Given the description of an element on the screen output the (x, y) to click on. 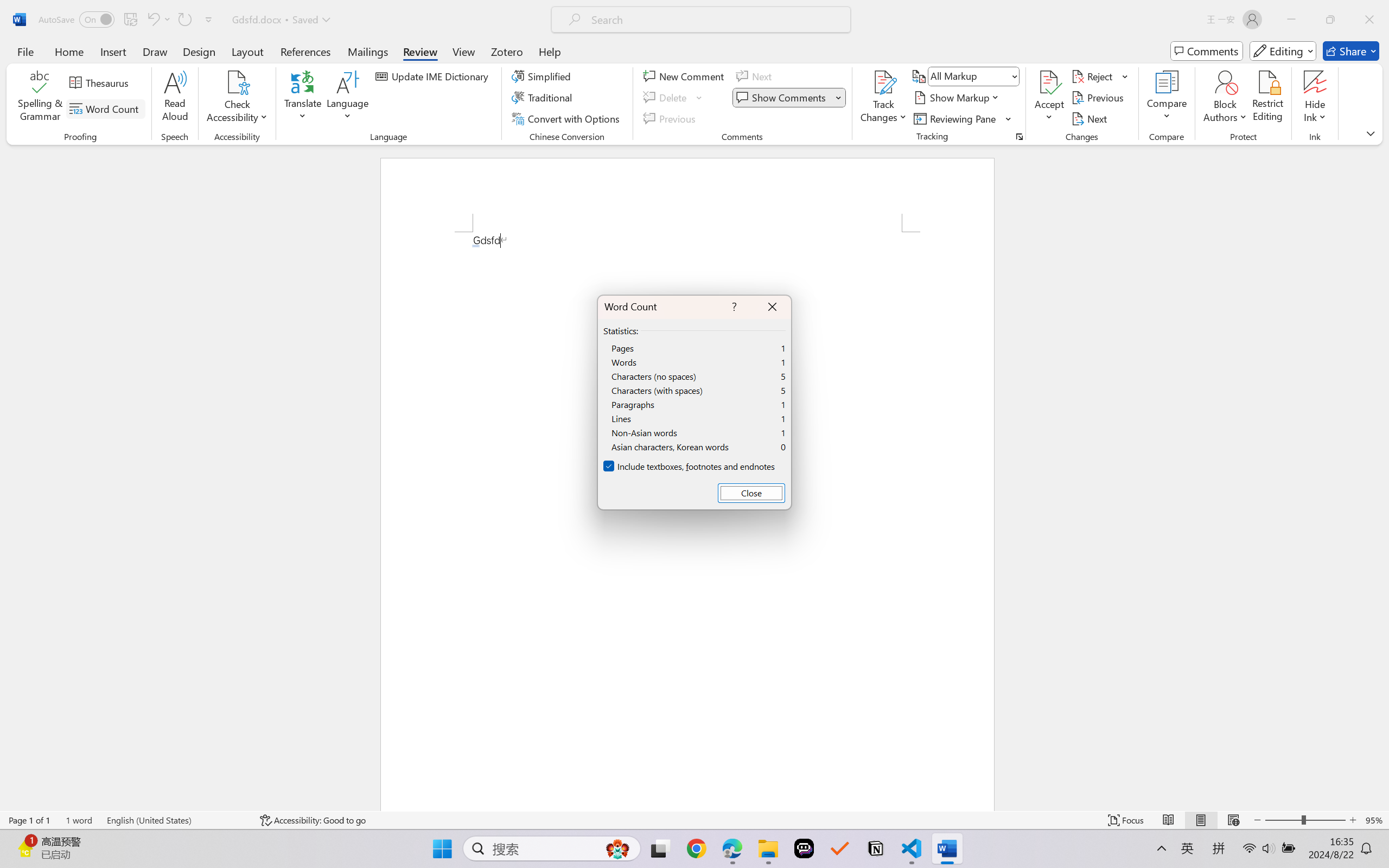
Block Authors (1224, 97)
Previous (1099, 97)
New Comment (685, 75)
Read Aloud (174, 97)
Undo AutoCorrect (158, 19)
Track Changes (883, 97)
Thesaurus... (101, 82)
